Given the description of an element on the screen output the (x, y) to click on. 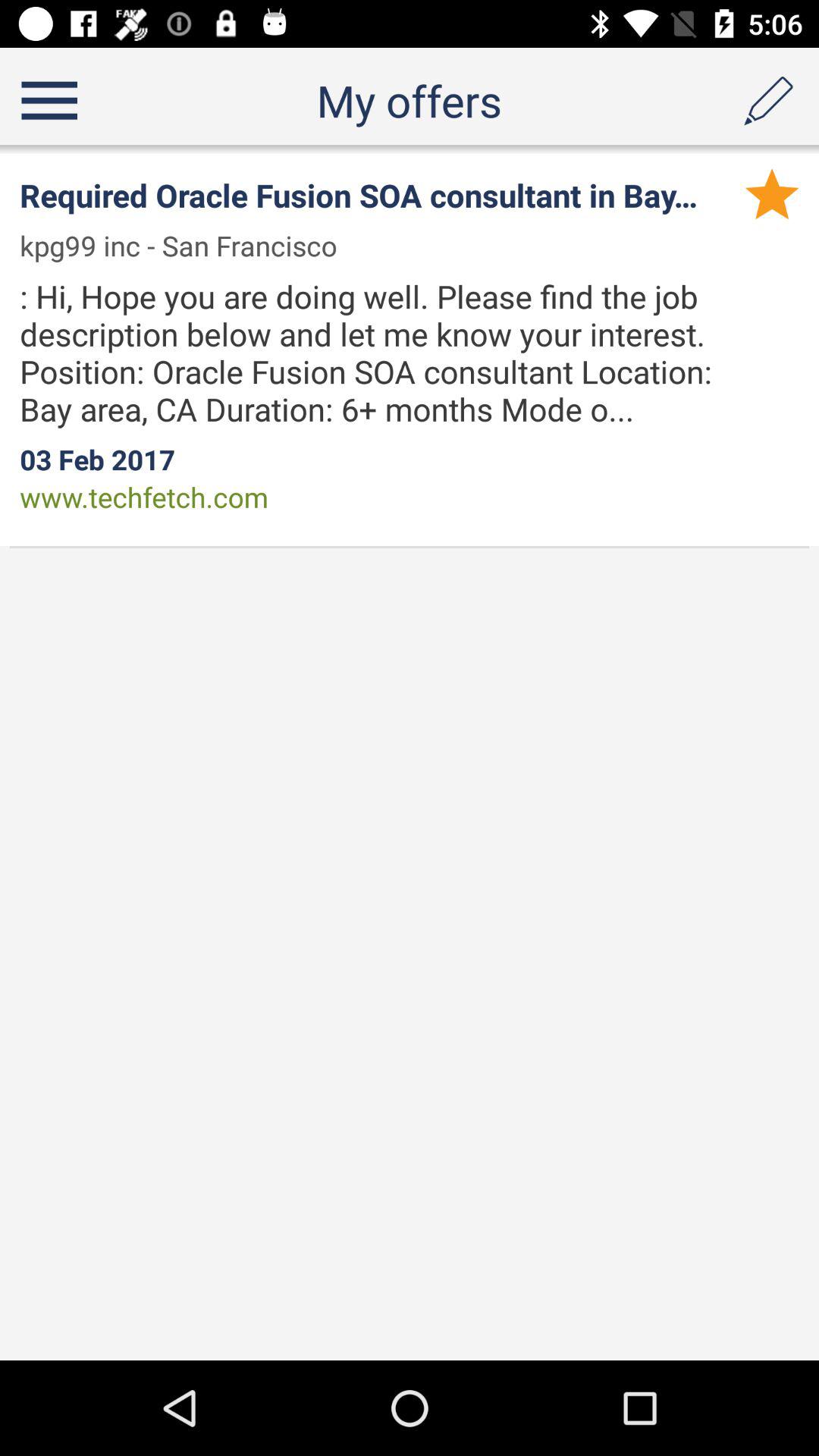
press hi hope you icon (393, 352)
